Given the description of an element on the screen output the (x, y) to click on. 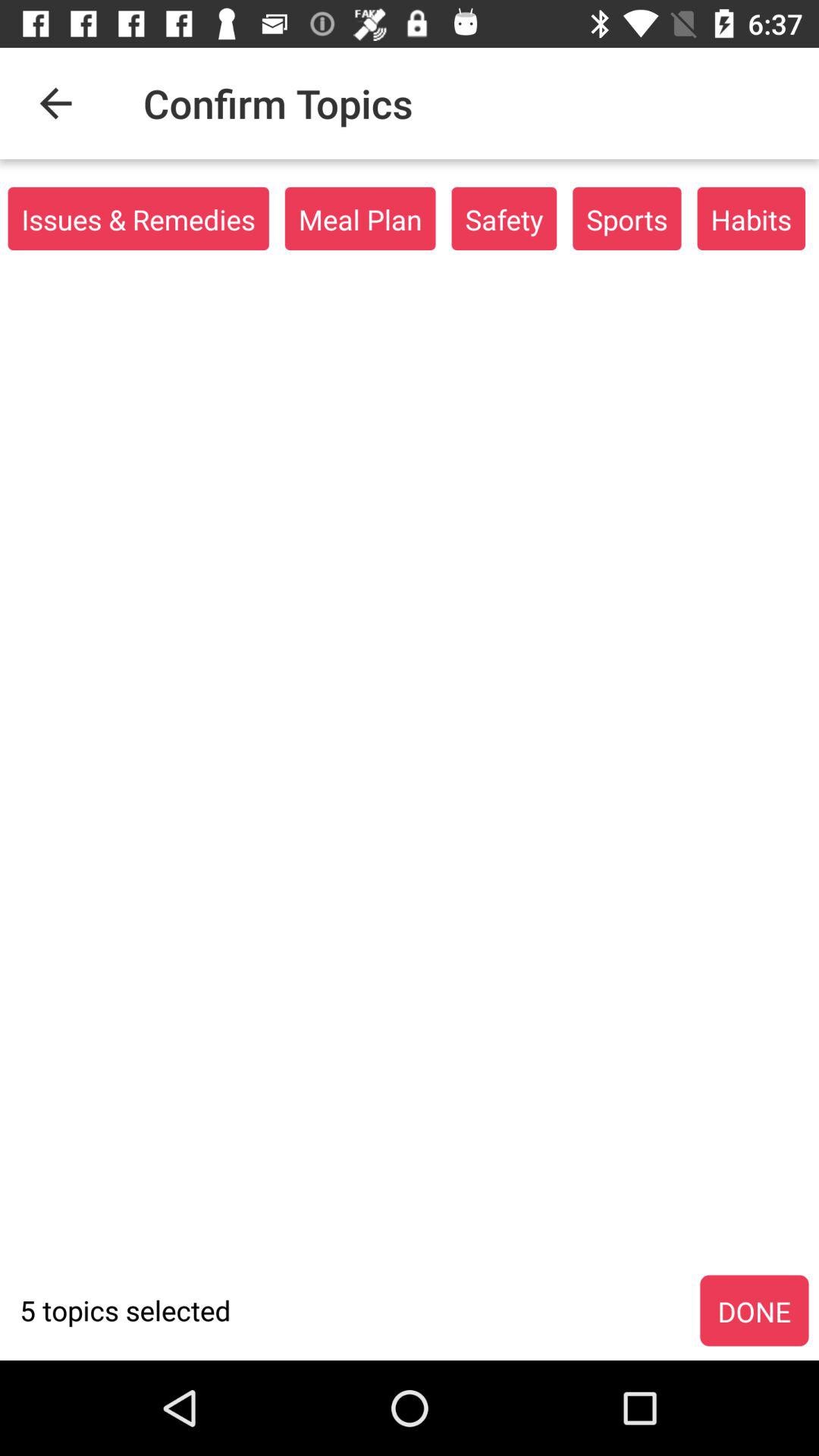
press the icon at the bottom right corner (754, 1311)
